Given the description of an element on the screen output the (x, y) to click on. 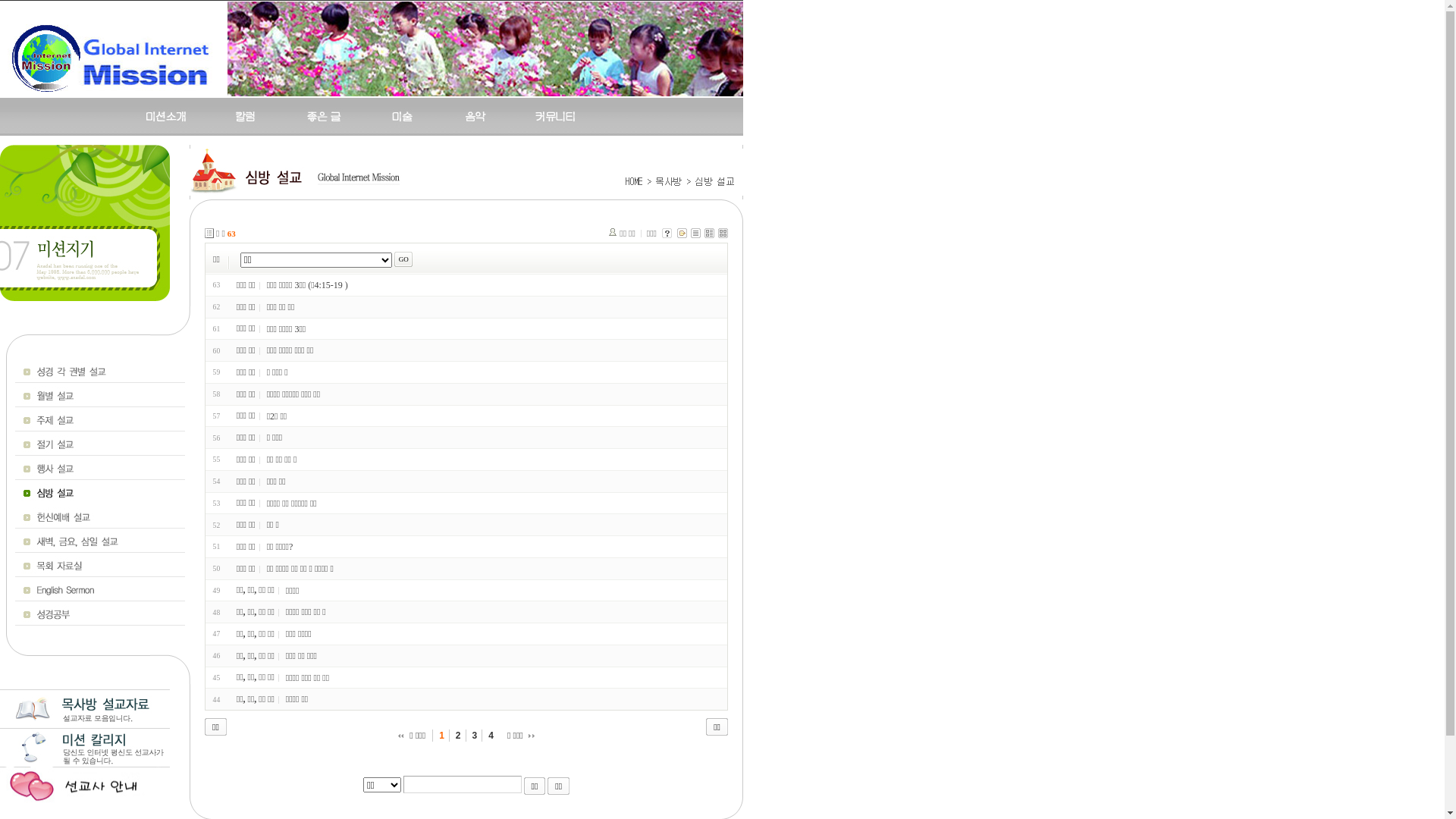
3 Element type: text (475, 735)
4 Element type: text (491, 735)
2 Element type: text (458, 735)
GO Element type: text (403, 258)
